Given the description of an element on the screen output the (x, y) to click on. 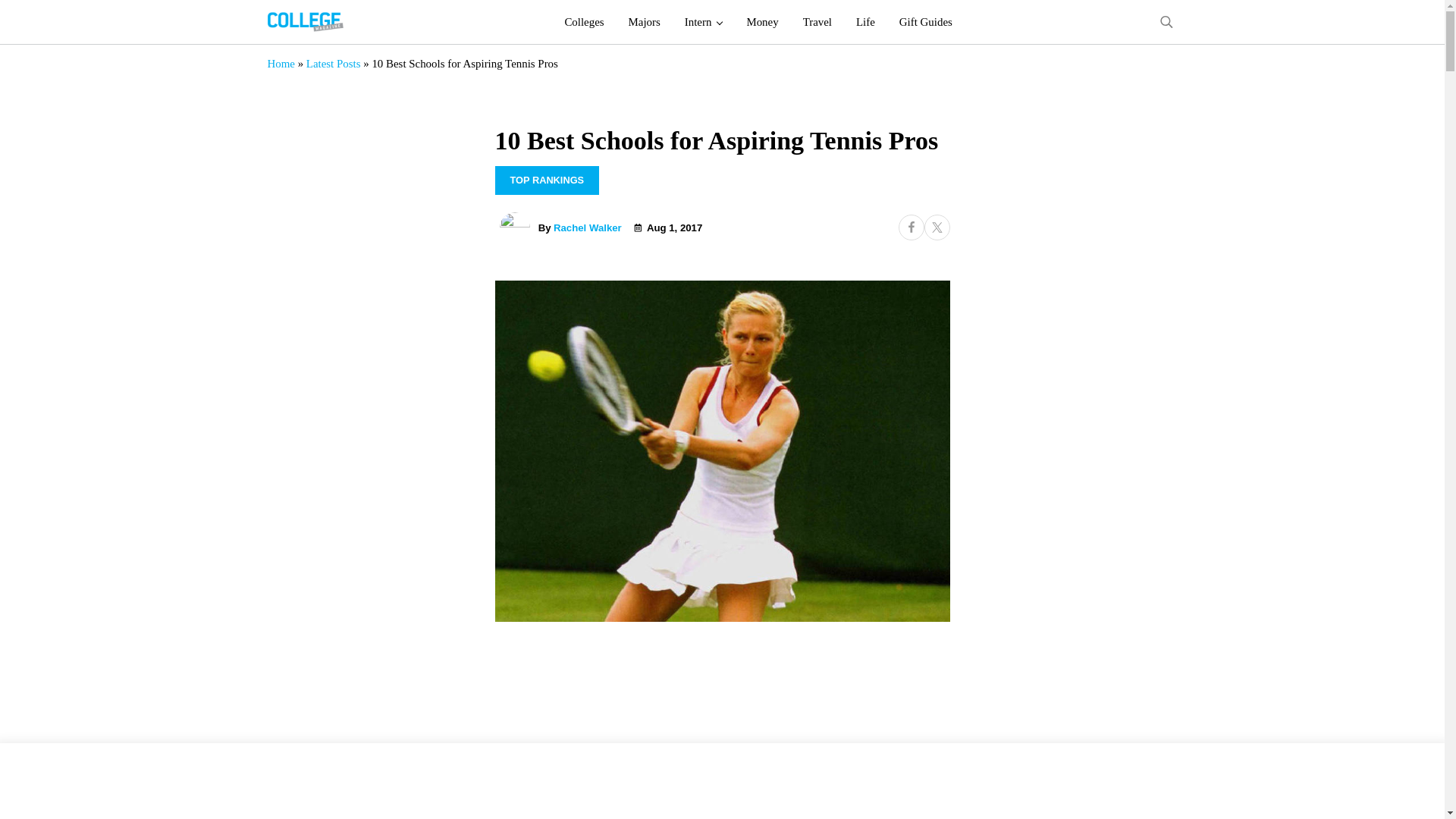
Intern (703, 21)
Money (761, 21)
Gift Guides (924, 21)
Colleges (583, 21)
Life (865, 21)
Share on Facebook (910, 227)
Majors (643, 21)
Travel (817, 21)
Share on Twitter (936, 227)
